Given the description of an element on the screen output the (x, y) to click on. 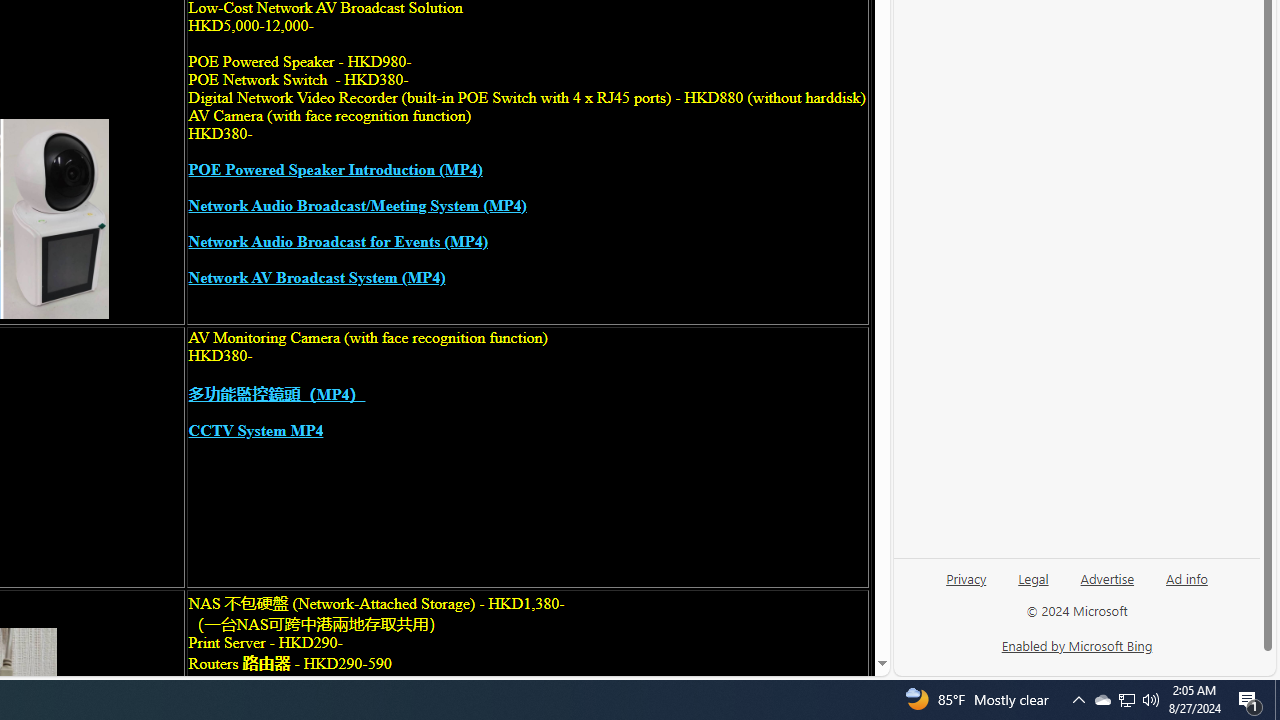
Network Audio Broadcast for Events (MP4)  (337, 242)
CCTV System MP4 (255, 430)
Network AV Broadcast System (MP4) (316, 278)
Network Audio Broadcast/Meeting System (MP4) (357, 206)
POE Powered Speaker Introduction (MP4) (335, 170)
